Given the description of an element on the screen output the (x, y) to click on. 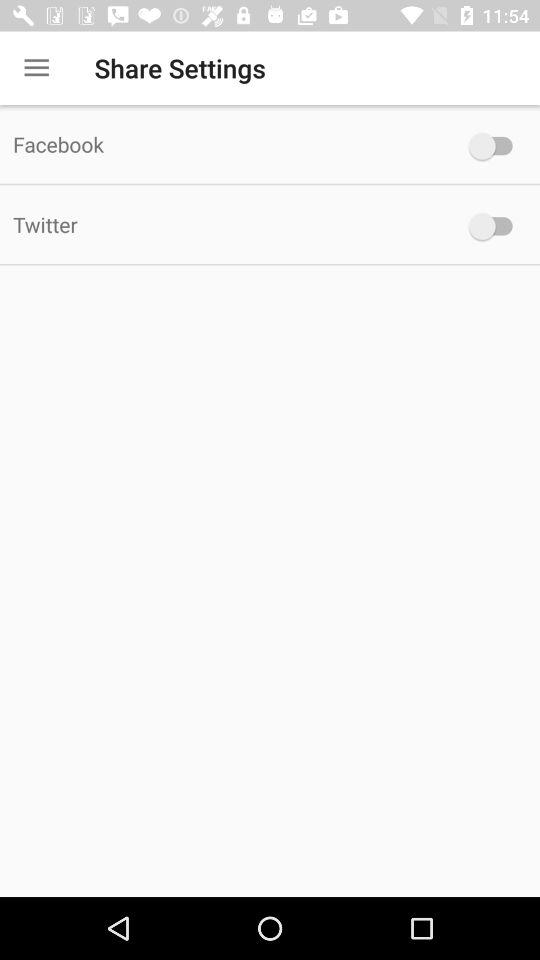
open the item above the facebook (36, 68)
